Given the description of an element on the screen output the (x, y) to click on. 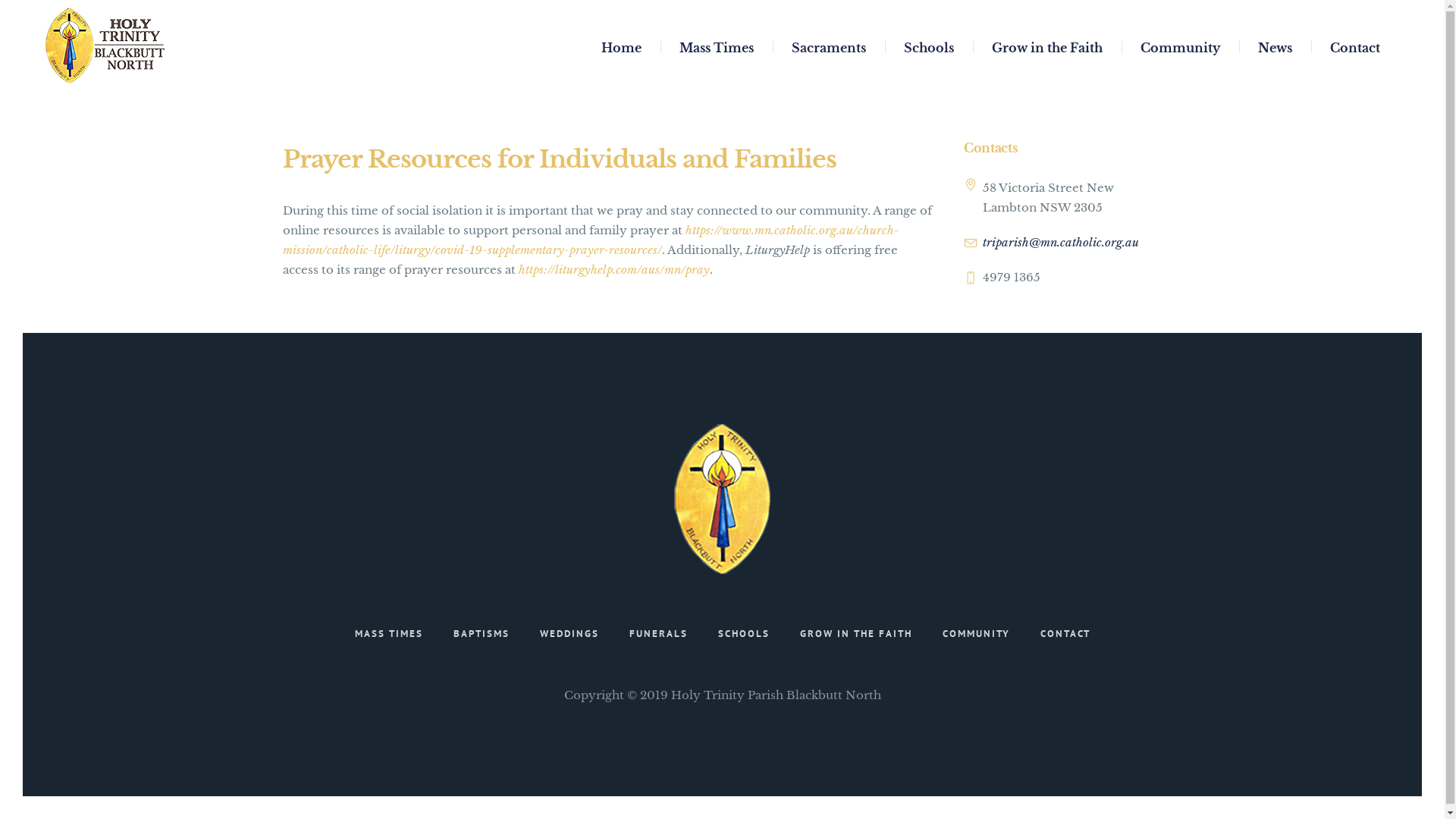
SCHOOLS Element type: text (742, 633)
Schools Element type: text (928, 45)
CONTACT Element type: text (1065, 633)
Community Element type: text (1180, 45)
https://liturgyhelp.com/aus/mn/pray Element type: text (613, 269)
triparish@mn.catholic.org.au Element type: text (1060, 242)
FUNERALS Element type: text (658, 633)
BAPTISMS Element type: text (481, 633)
Contact Element type: text (1355, 45)
Mass Times Element type: text (716, 45)
WEDDINGS Element type: text (569, 633)
COMMUNITY Element type: text (975, 633)
Holy Trinity Parish Blackbutt North Element type: hover (722, 498)
Home Element type: text (621, 45)
News Element type: text (1275, 45)
Sacraments Element type: text (828, 45)
GROW IN THE FAITH Element type: text (855, 633)
Grow in the Faith Element type: text (1046, 45)
MASS TIMES Element type: text (388, 633)
